Given the description of an element on the screen output the (x, y) to click on. 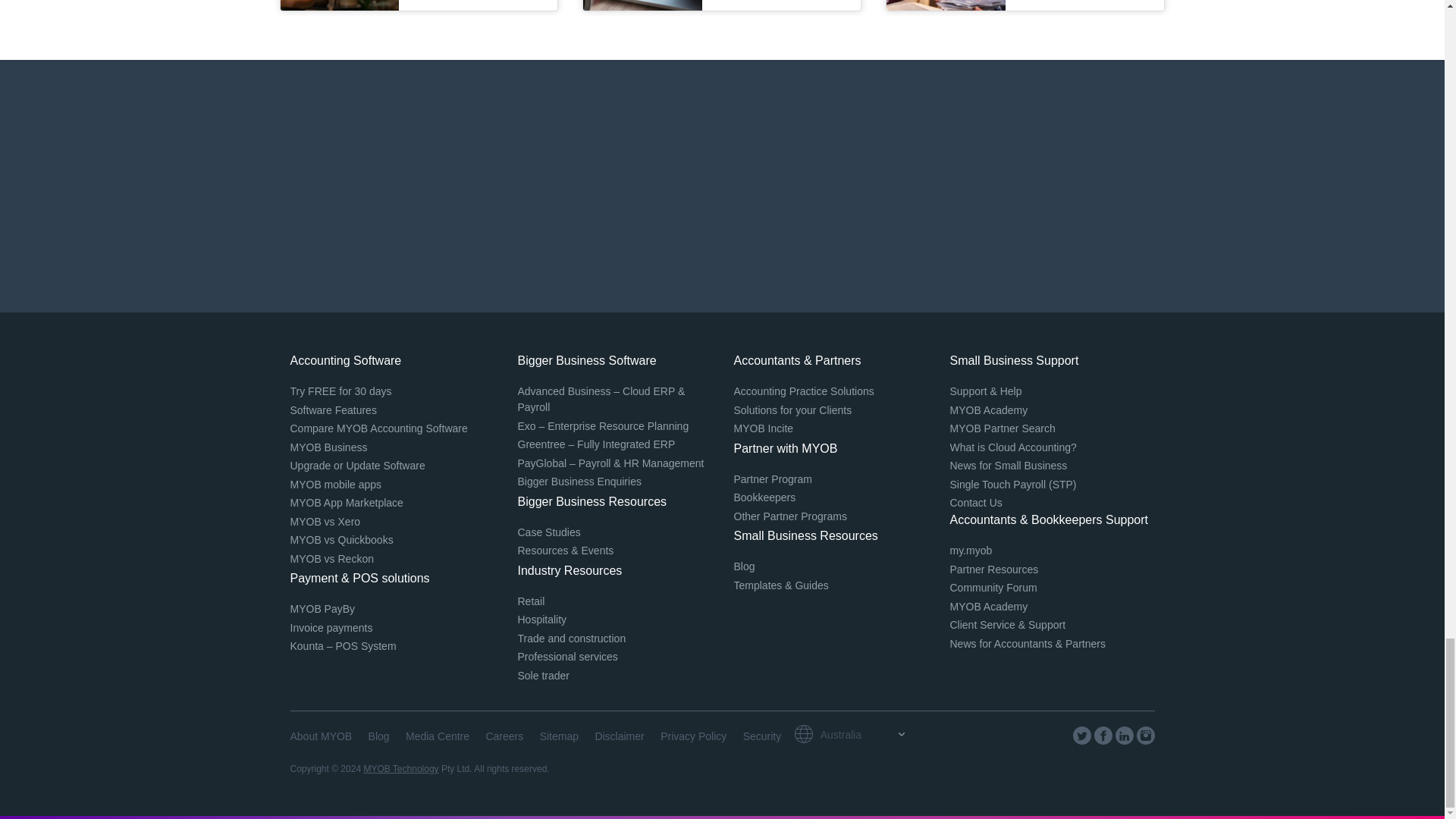
Try FREE for 30 days (340, 390)
Software Features (332, 410)
Accounting Software (345, 359)
Form 0 (721, 186)
